Given the description of an element on the screen output the (x, y) to click on. 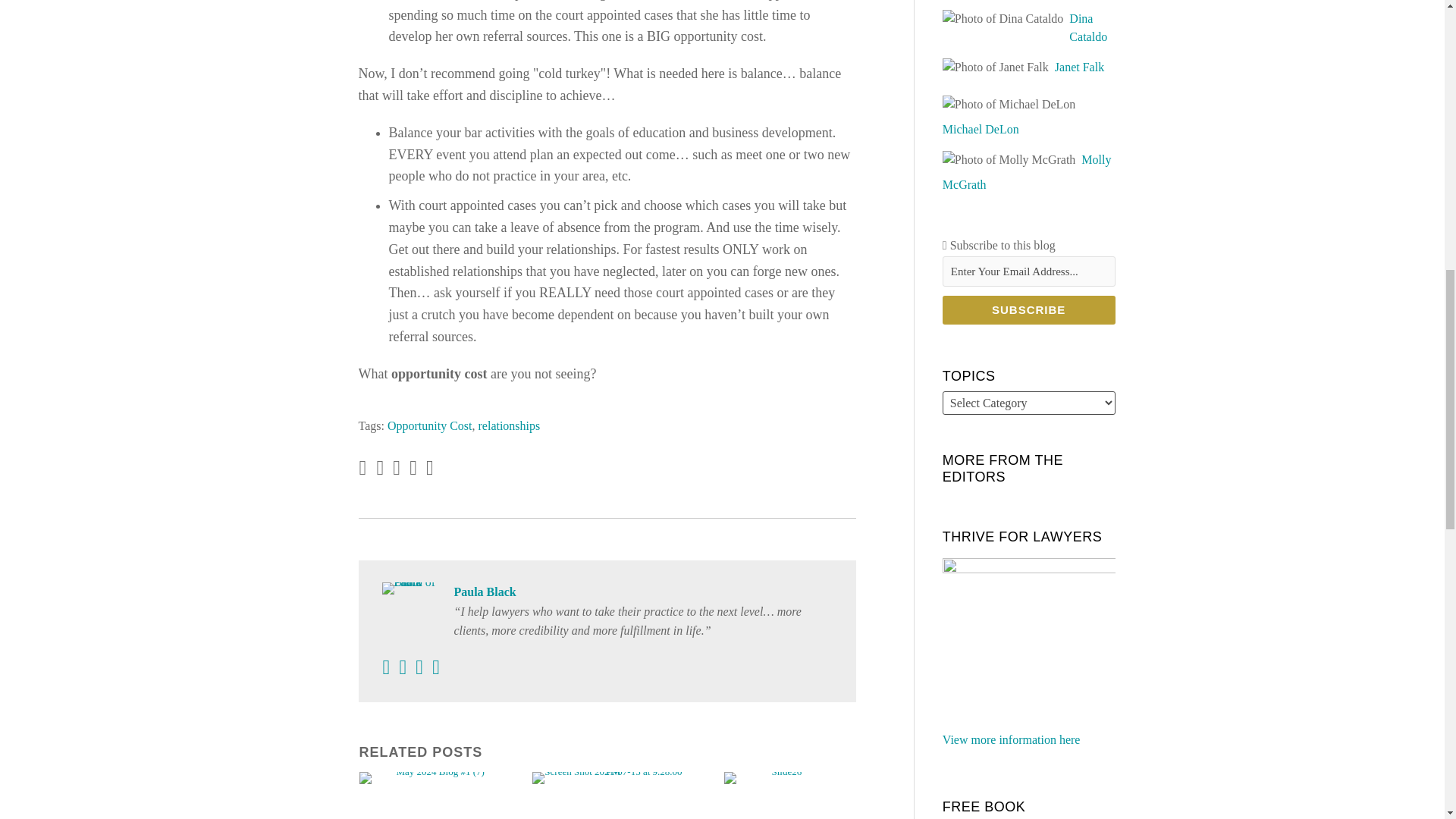
Opportunity Cost (429, 425)
Paula Black (606, 591)
relationships (508, 425)
Subscribe (1028, 309)
